Given the description of an element on the screen output the (x, y) to click on. 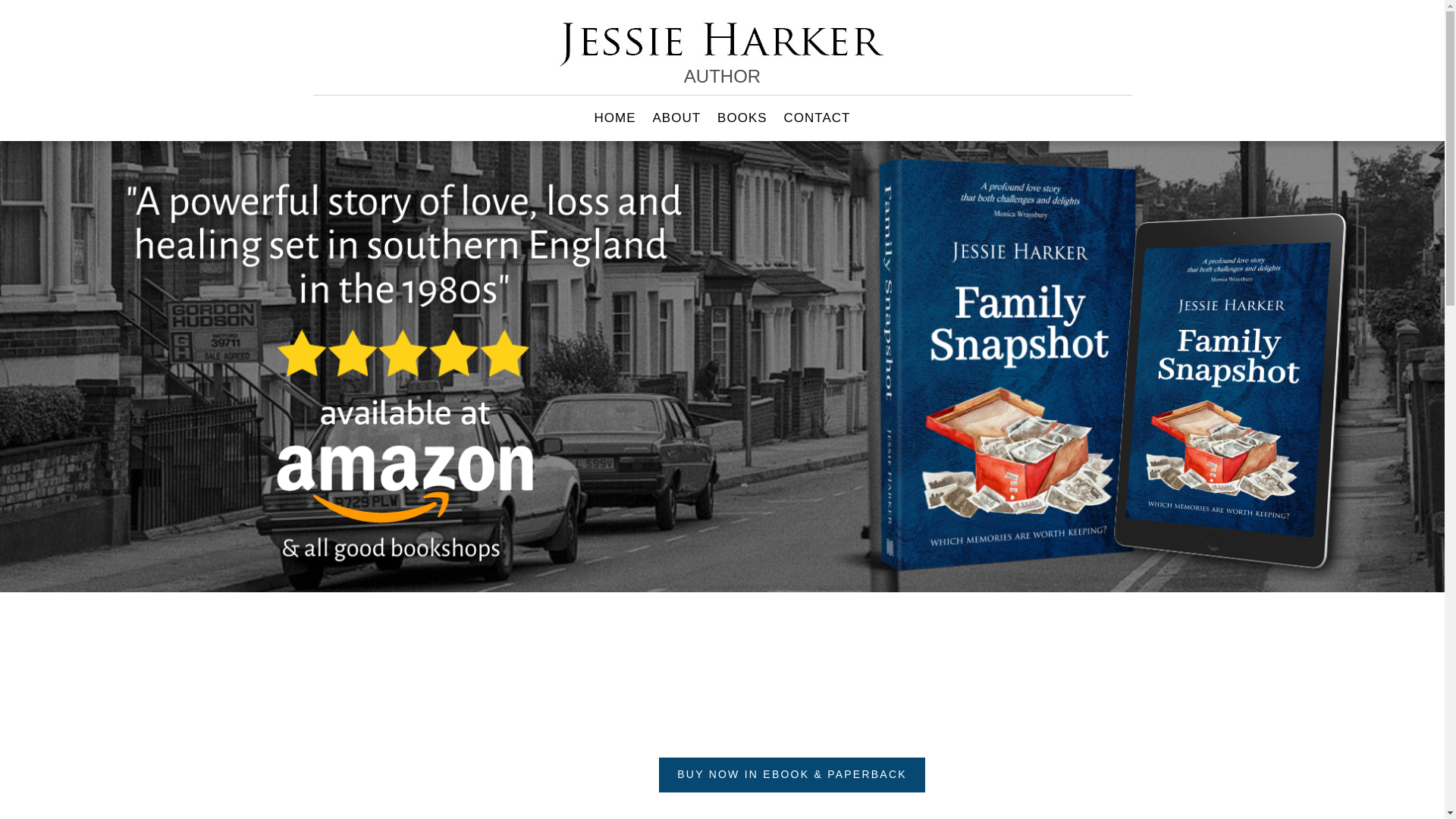
BOOKS (742, 121)
Jessie Harker Author (721, 39)
CONTACT (817, 121)
HOME (615, 121)
ABOUT (676, 121)
